Given the description of an element on the screen output the (x, y) to click on. 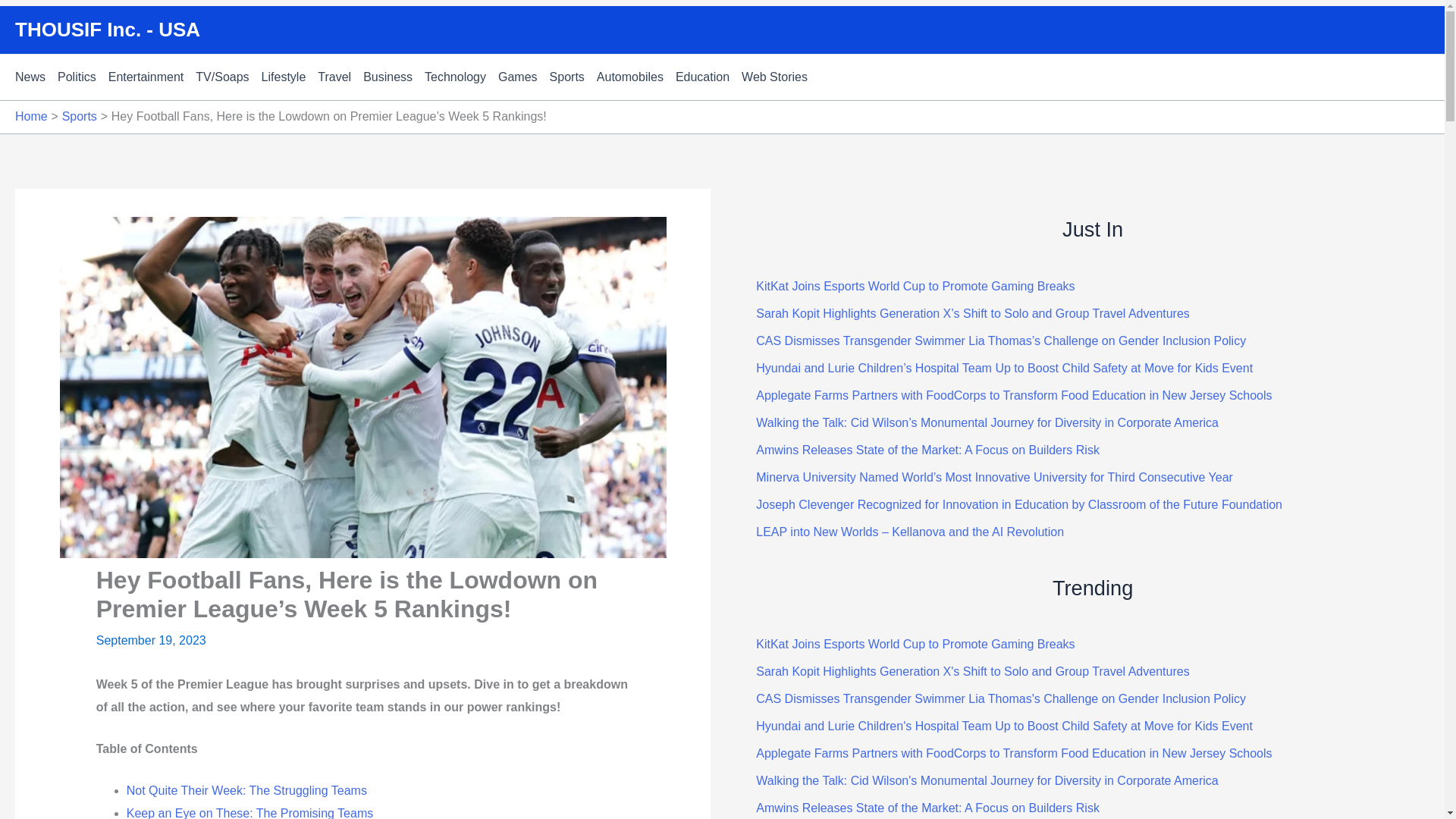
Business (393, 76)
Entertainment (151, 76)
Politics (82, 76)
Web Stories (780, 76)
News (36, 76)
Lifestyle (290, 76)
Travel (339, 76)
THOUSIF Inc. - USA (107, 29)
Home (31, 115)
Automobiles (635, 76)
Not Quite Their Week: The Struggling Teams (246, 789)
Sports (79, 115)
Games (523, 76)
Sports (573, 76)
Keep an Eye on These: The Promising Teams (250, 812)
